Given the description of an element on the screen output the (x, y) to click on. 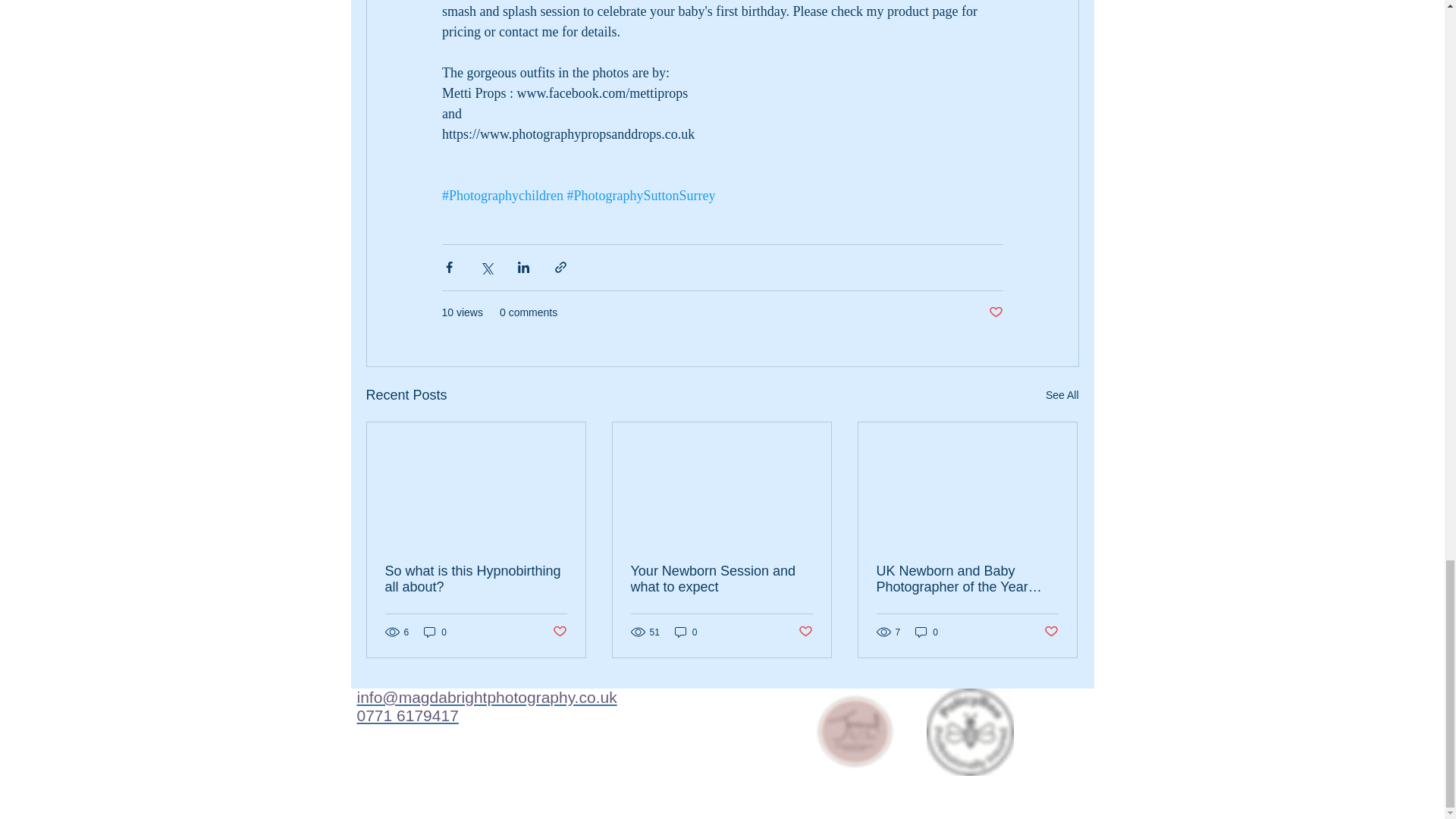
Post not marked as liked (558, 631)
See All (1061, 395)
Post not marked as liked (995, 312)
0 (435, 631)
0 (685, 631)
So what is this Hypnobirthing all about? (476, 579)
Your Newborn Session and what to expect (721, 579)
